Given the description of an element on the screen output the (x, y) to click on. 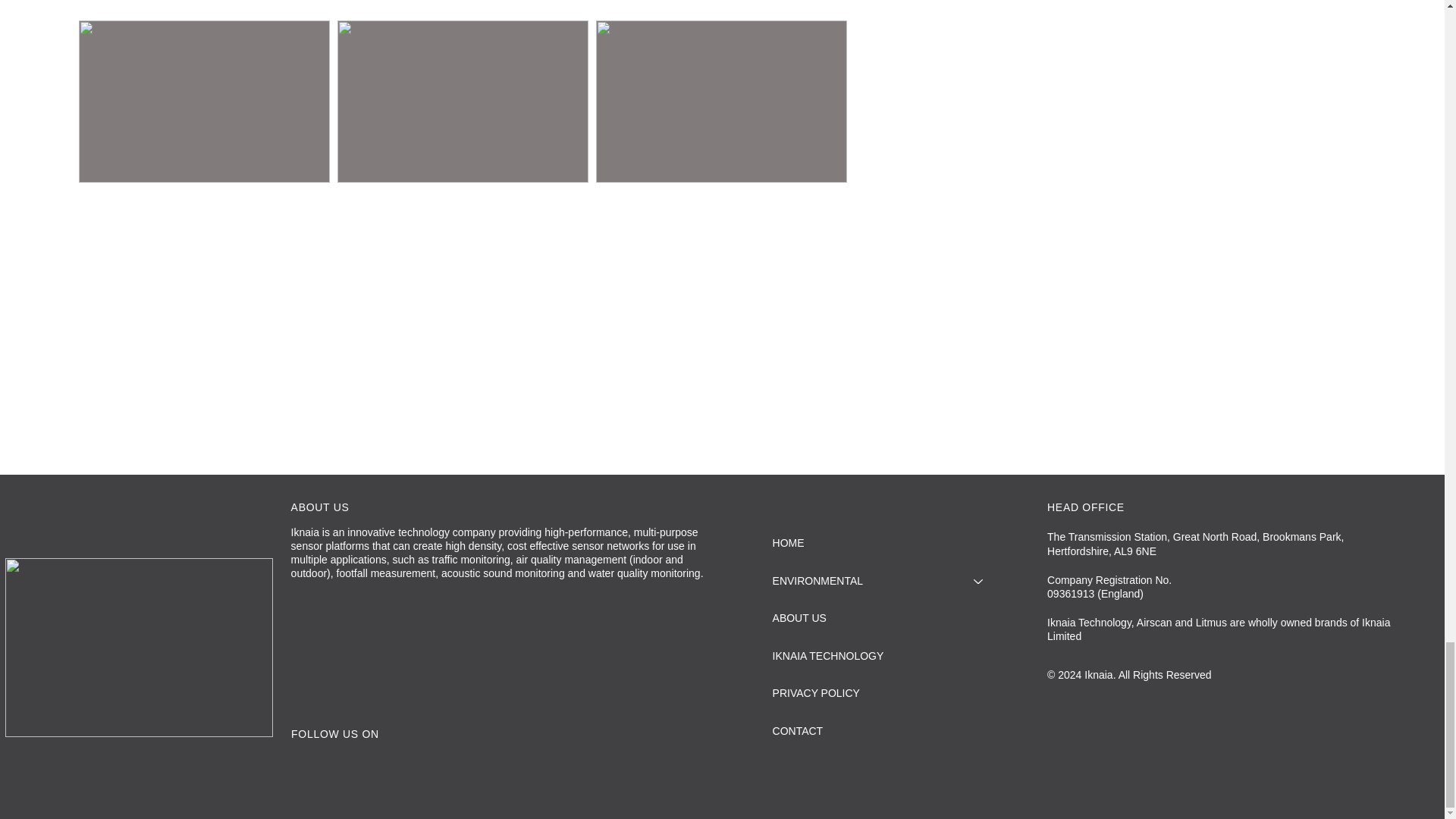
ABOUT US (881, 618)
CONTACT (881, 731)
HOME (881, 543)
PRIVACY POLICY (881, 693)
IKNAIA TECHNOLOGY (881, 656)
